Given the description of an element on the screen output the (x, y) to click on. 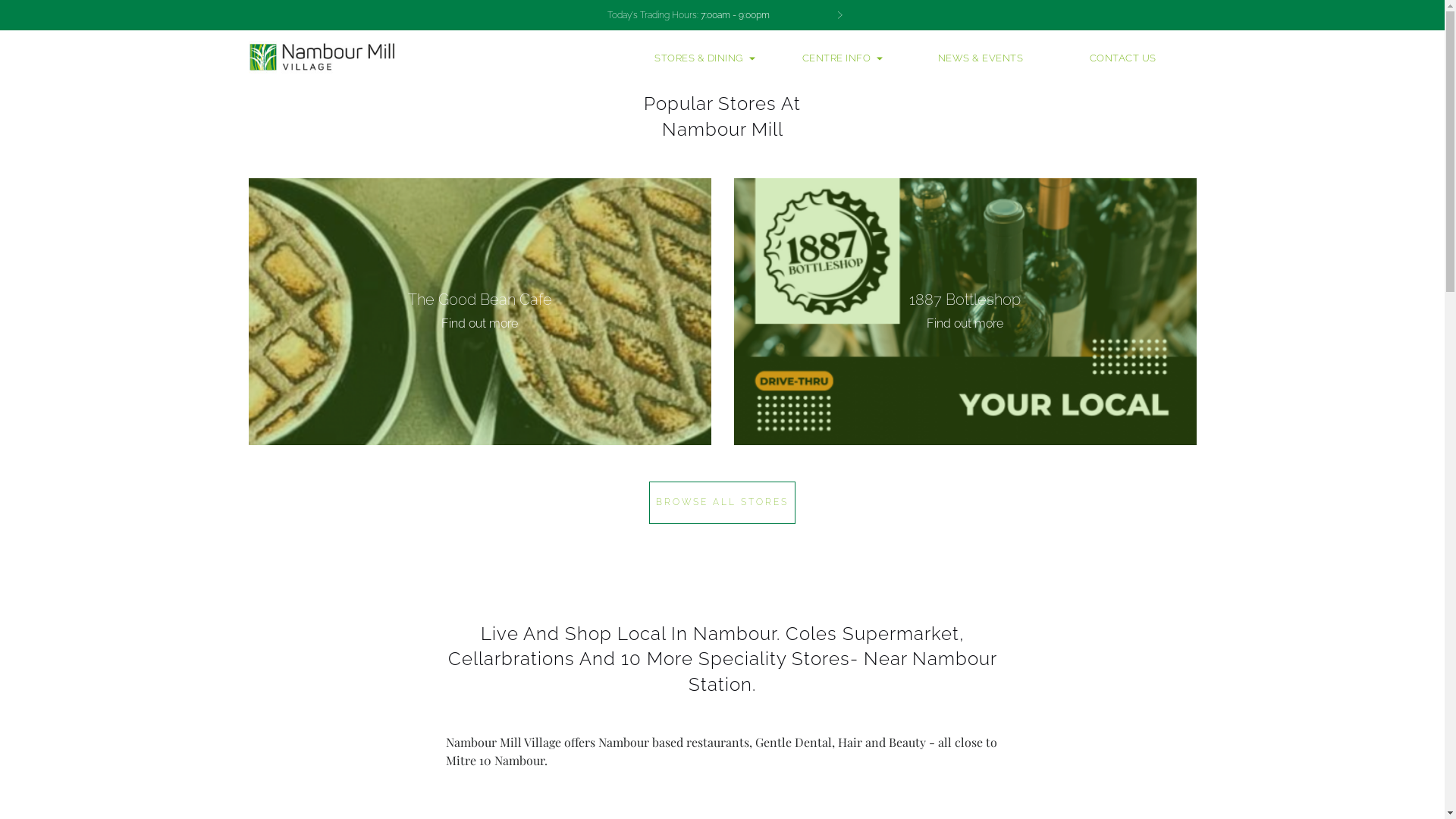
STORES & DINING Element type: text (704, 58)
1887 Bottleshop
Find out more Element type: text (965, 311)
BROWSE ALL STORES Element type: text (722, 502)
The Good Bean Cafe
Find out more Element type: text (479, 311)
NEWS & EVENTS Element type: text (980, 58)
CENTRE INFO Element type: text (842, 58)
CONTACT US Element type: text (1122, 58)
Today'S Trading Hours: 7:00am - 9:00pm Element type: text (722, 15)
